Given the description of an element on the screen output the (x, y) to click on. 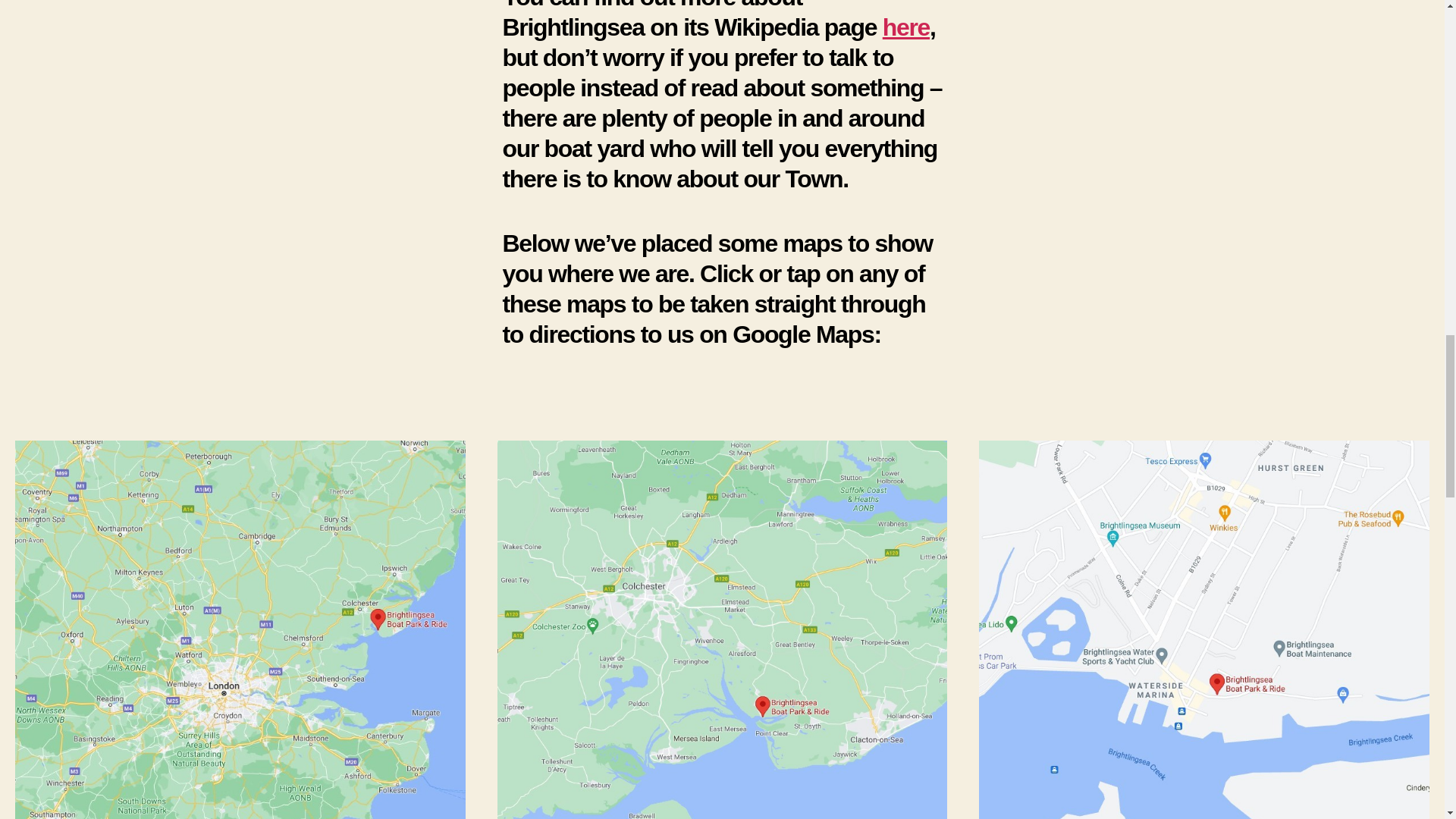
here (906, 26)
